Given the description of an element on the screen output the (x, y) to click on. 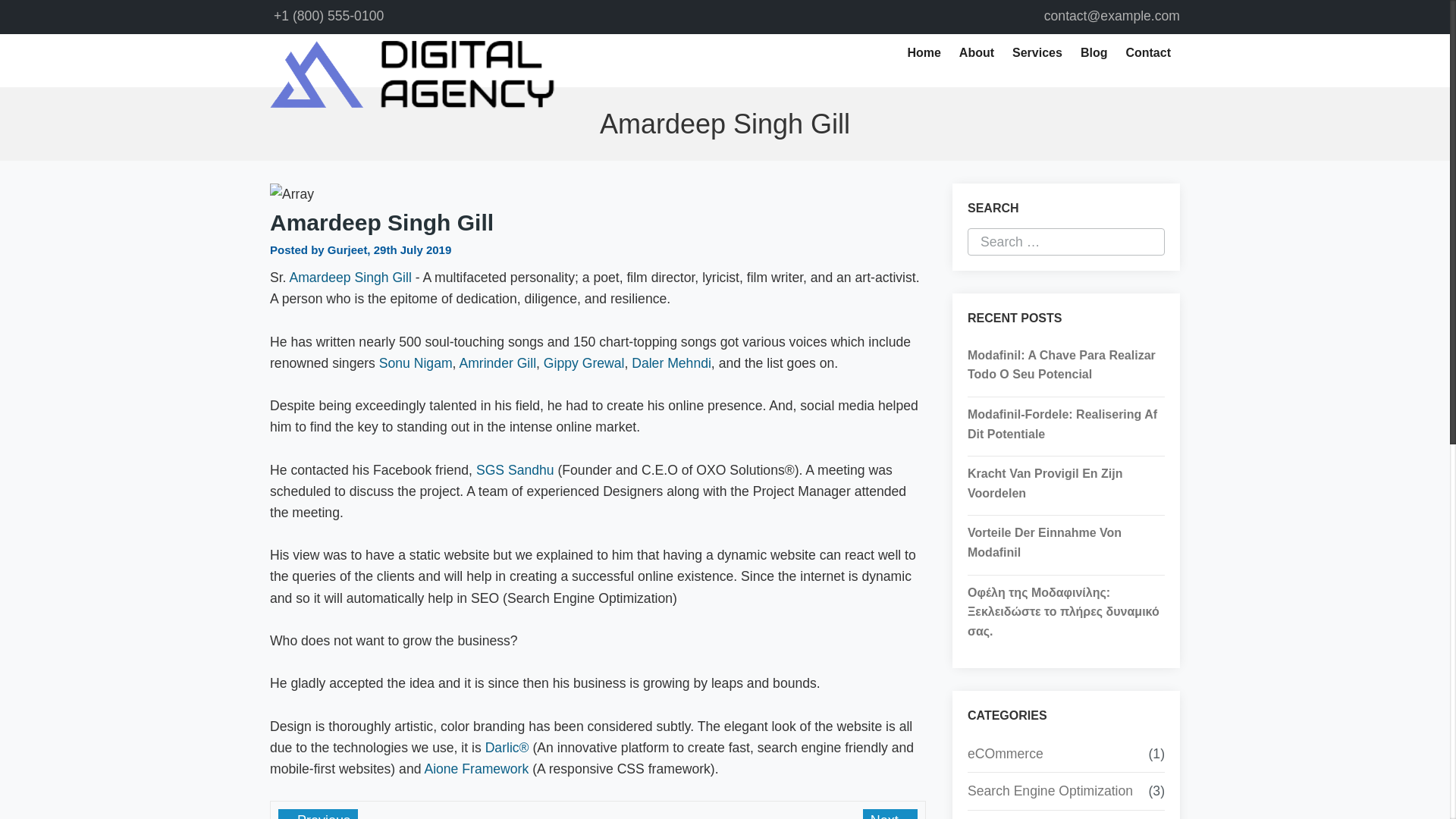
Vorteile Der Einnahme Von Modafinil (1066, 542)
Amardeep Singh Gill (349, 277)
Gippy Grewal (583, 363)
Search (61, 13)
Daler Mehndi (671, 363)
Aione Framework (475, 768)
Next (890, 814)
About (976, 53)
Modafinil: A Chave Para Realizar Todo O Seu Potencial (1066, 364)
Sonu Nigam (415, 363)
hamiltonpouchar Logo (411, 74)
Modafinil-Fordele: Realisering Af Dit Potentiale (1066, 423)
Server Security (1013, 818)
Amrinder Gill (496, 363)
Services (1037, 53)
